Given the description of an element on the screen output the (x, y) to click on. 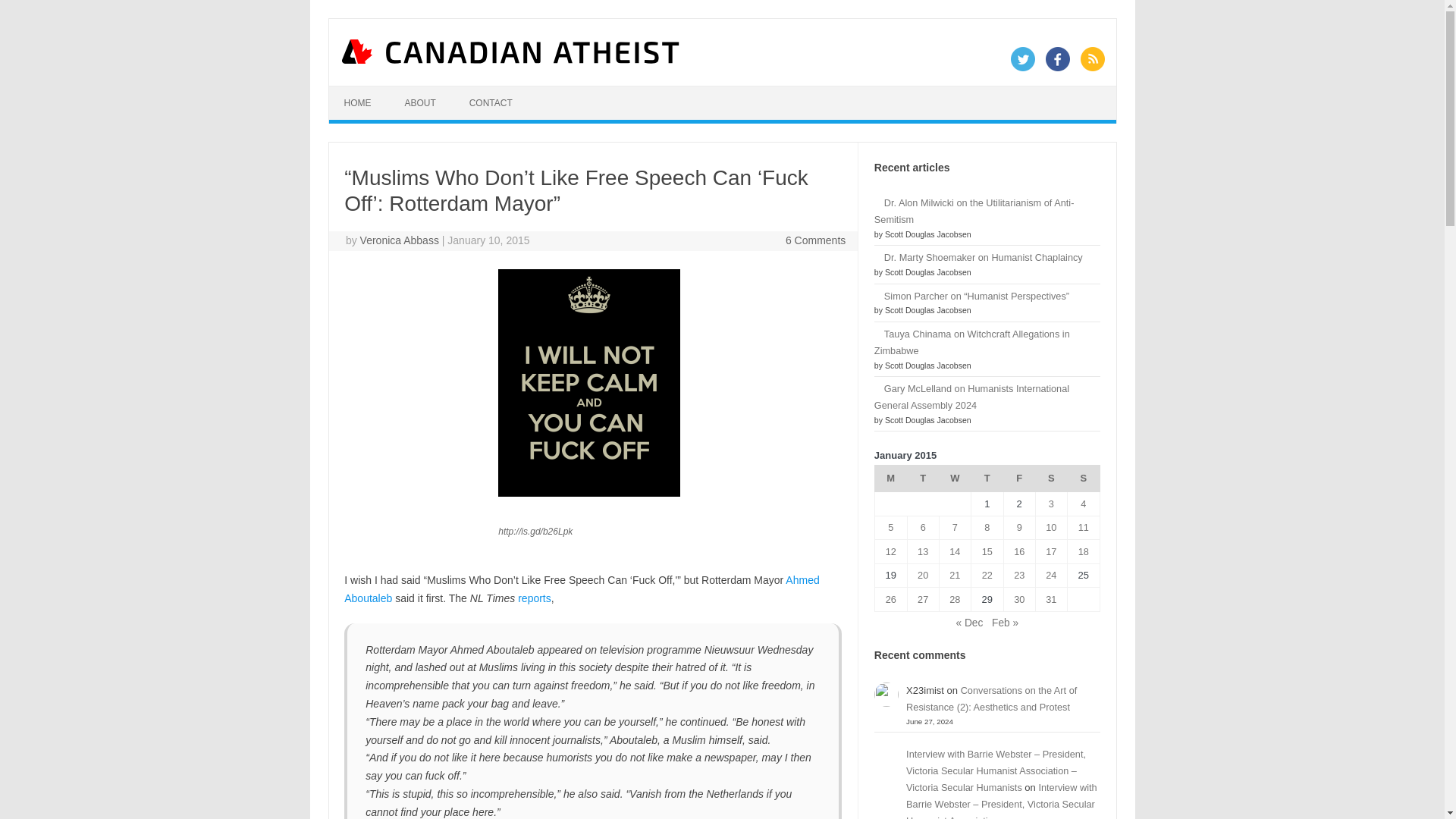
Posts by Veronica Abbass (399, 240)
reports (534, 598)
Canadian Atheist (510, 60)
CONTACT (490, 102)
Sunday (1083, 479)
Tuesday (923, 479)
Thursday (987, 479)
HOME (358, 102)
6 Comments (815, 240)
Veronica Abbass (399, 240)
